Given the description of an element on the screen output the (x, y) to click on. 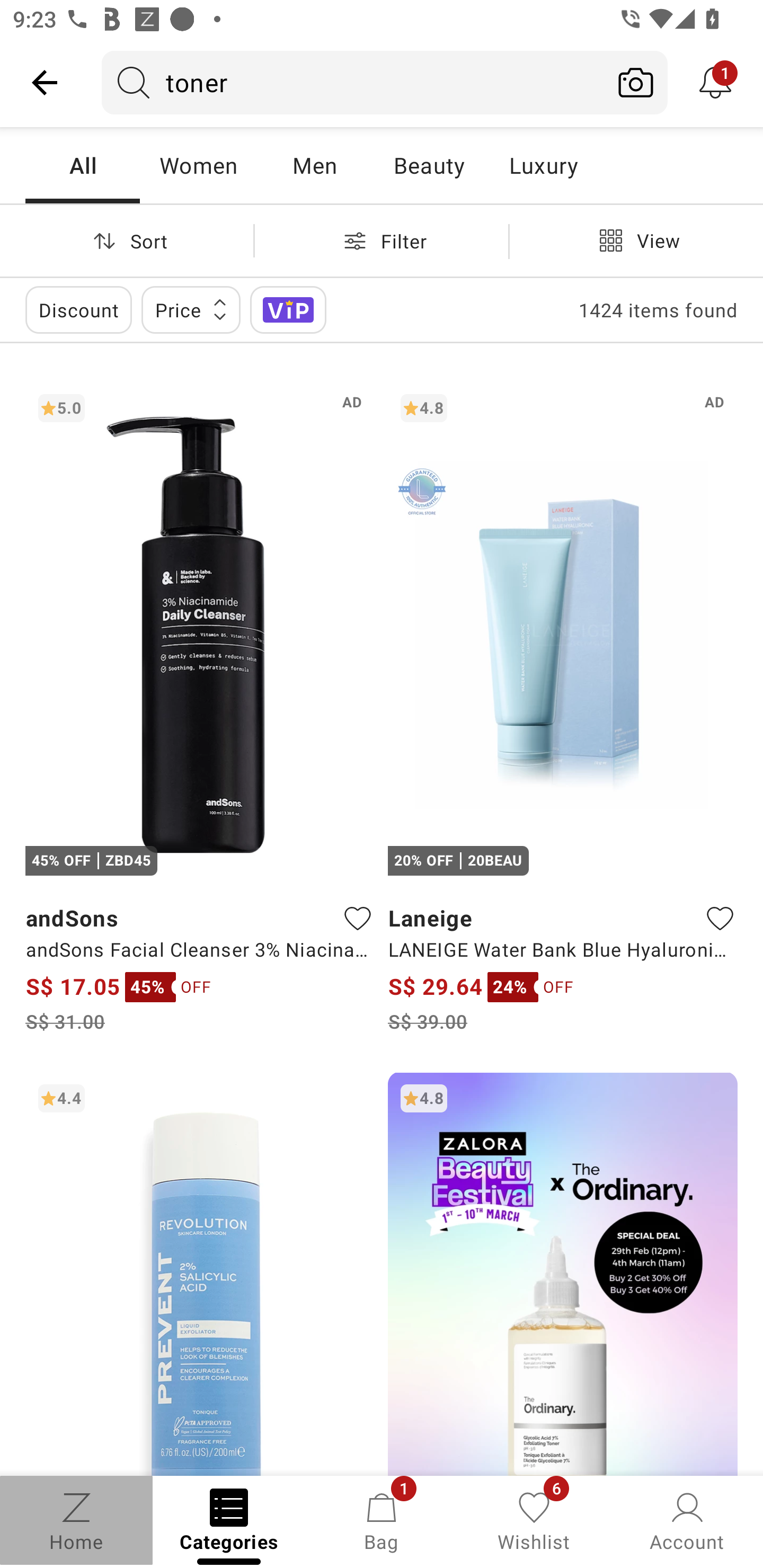
Navigate up (44, 82)
toner (352, 82)
Women (198, 165)
Men (314, 165)
Beauty (428, 165)
Luxury (543, 165)
Sort (126, 240)
Filter (381, 240)
View (636, 240)
Discount (78, 309)
Price (190, 309)
4.4 (200, 1272)
4.8 (562, 1272)
Home (76, 1519)
Bag, 1 new notification Bag (381, 1519)
Wishlist, 6 new notifications Wishlist (533, 1519)
Account (686, 1519)
